Given the description of an element on the screen output the (x, y) to click on. 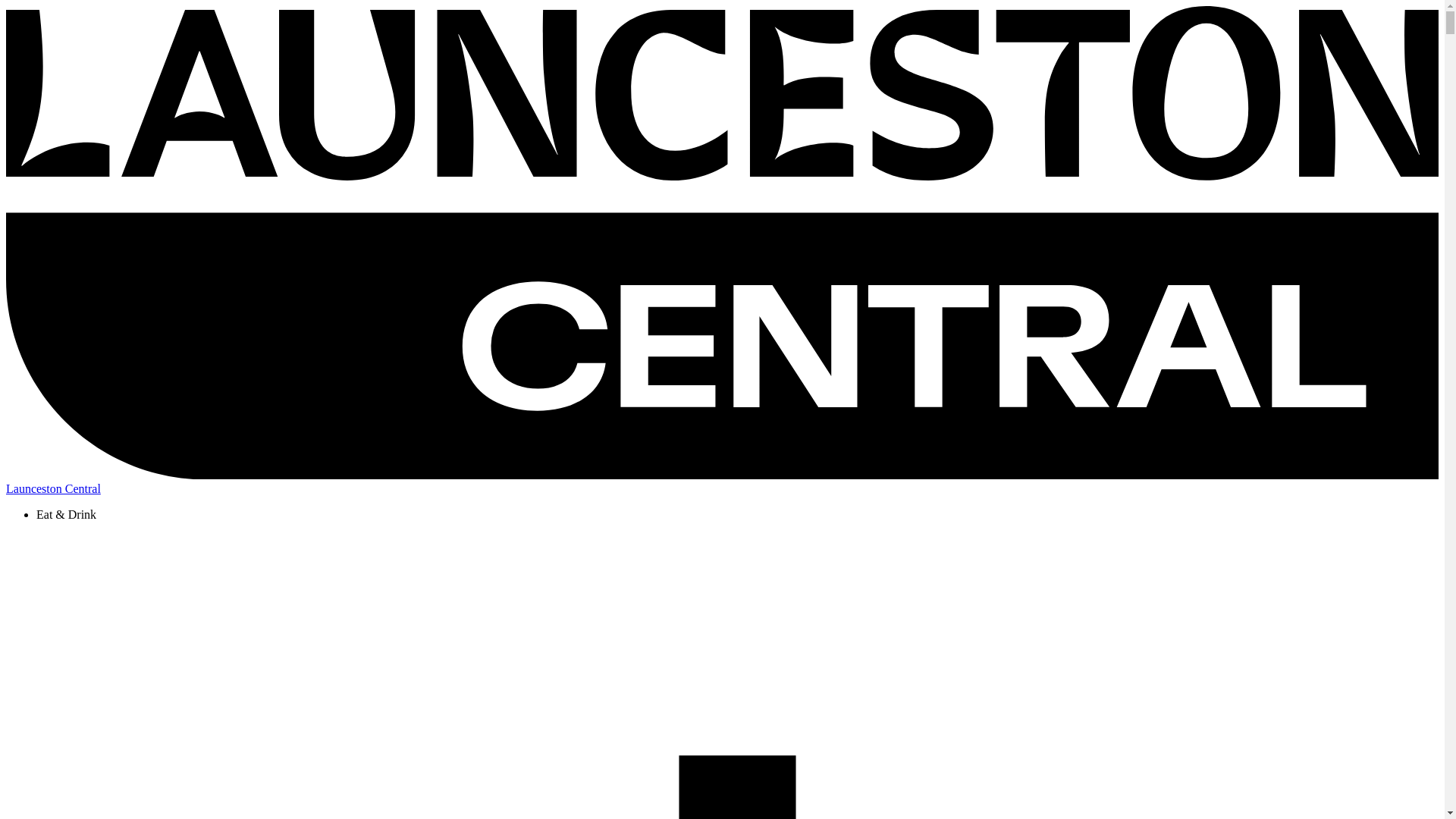
Launceston Central Element type: text (722, 481)
